Given the description of an element on the screen output the (x, y) to click on. 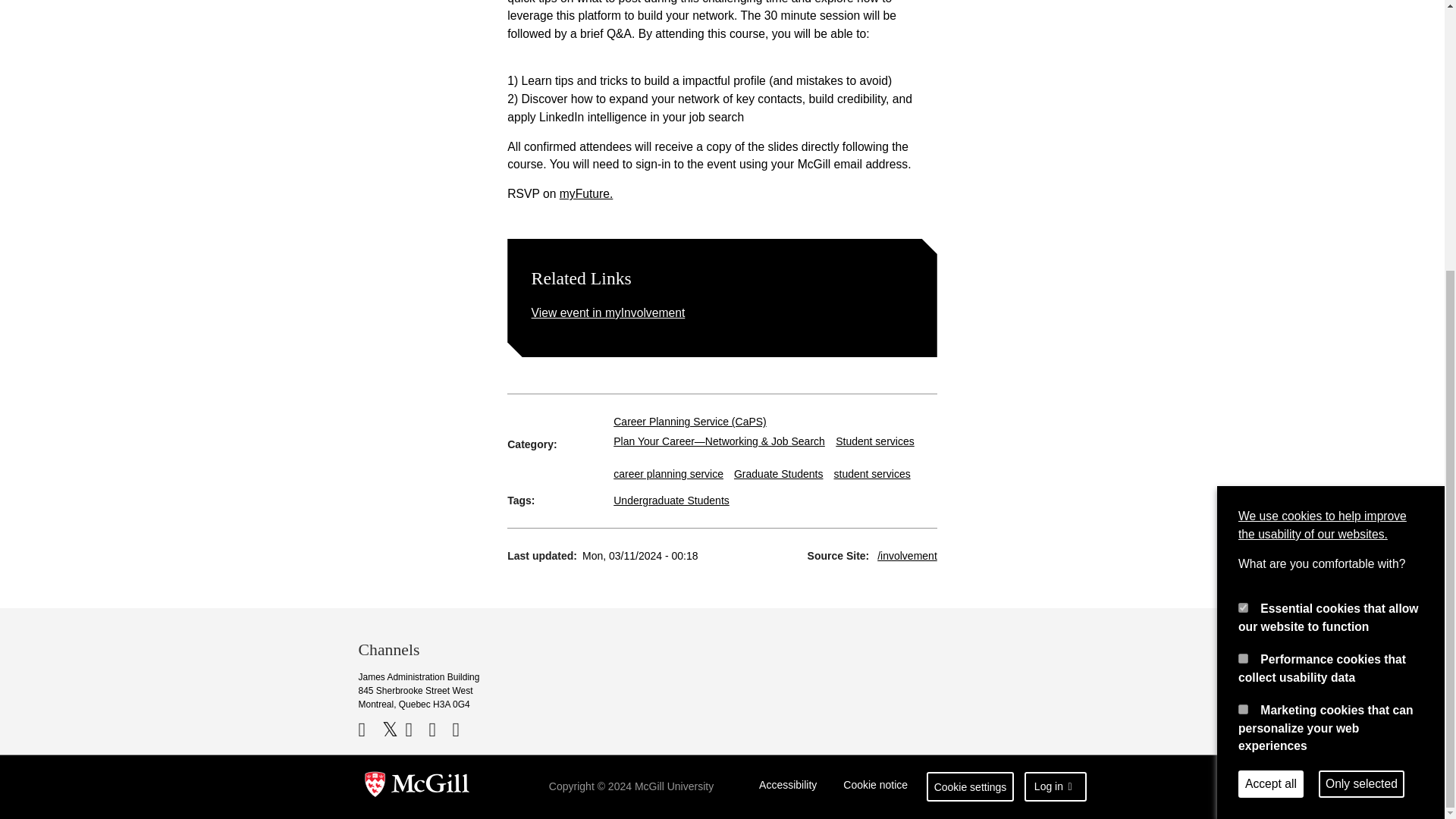
return to McGill University (417, 786)
View event in myInvolvement (608, 312)
Cookie notice (875, 786)
Cookie notice (875, 786)
Follow us on Facebook (368, 729)
Only selected (1362, 388)
Student services (874, 440)
Facebook (368, 729)
Accept all (1271, 388)
career planning service (667, 473)
performance (1243, 262)
myFuture. (585, 193)
Cookie settings (970, 786)
Accessibility (788, 786)
YouTube (414, 729)
